Given the description of an element on the screen output the (x, y) to click on. 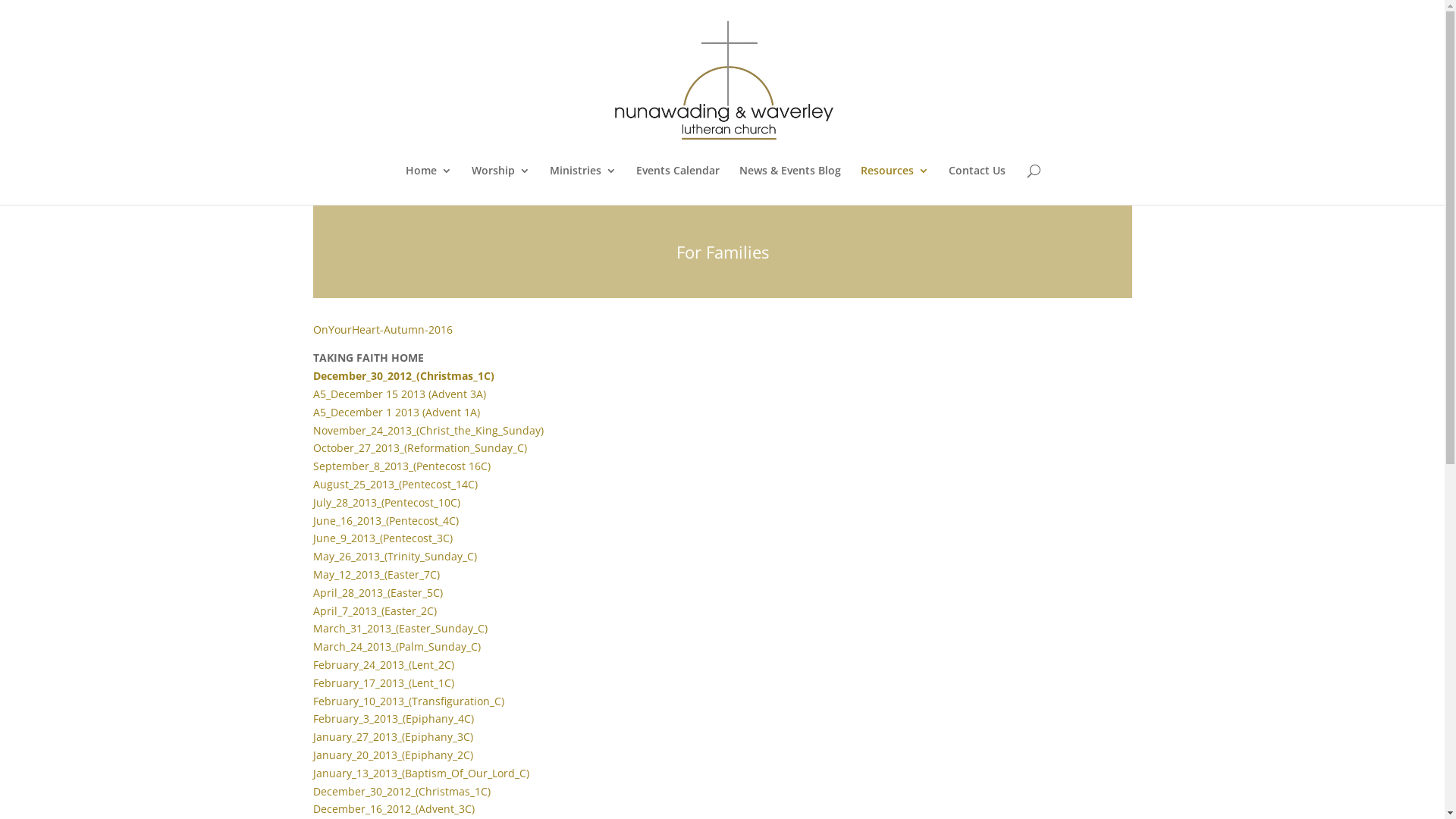
February_24_2013_(Lent_2C) Element type: text (382, 664)
Home Element type: text (428, 184)
A5_December 1 2013 (Advent 1A) Element type: text (395, 411)
January_27_2013_(Epiphany_3C) Element type: text (392, 736)
November_24_2013_(Christ_the_King_Sunday) Element type: text (427, 430)
April_7_2013_(Easter_2C) Element type: text (374, 610)
3_(Baptism_Of_Our_Lord_C) Element type: text (460, 772)
May_26_2013_(Trinity_Sunday_C) Element type: text (394, 556)
A5_December 15 2013 (Advent 3A) Element type: text (398, 393)
January_13_201 Element type: text (351, 772)
Ministries Element type: text (582, 184)
News & Events Blog Element type: text (789, 184)
January_20_2013_(Epiphany_2C) Element type: text (392, 754)
March_24_ Element type: text (339, 646)
Worship Element type: text (500, 184)
e_16_2013_(Pentecost_4C) Element type: text (393, 520)
September_8_2013_(Pentecost 16C) Element type: text (400, 465)
February_10_2013_(Transfiguration_C) Element type: text (407, 700)
_16_2012_(Advent_3C) Element type: text (419, 808)
June_9_2013_(Pentecost_3C) Element type: text (381, 537)
October_27_2013_(Reformation_Sunday_C) Element type: text (419, 447)
OnYourHeart-Autumn-2016 Element type: text (381, 329)
Jun Element type: text (320, 520)
May_12_2013_(Easter_7C) Element type: text (375, 574)
August_25_2013_(Pentecost_14C) Element type: text (394, 483)
March_31_2013_(Easter_Sunday_C) Element type: text (399, 628)
December Element type: text (338, 808)
July_28_2013_(Pentecost_10C) Element type: text (385, 502)
December_30_2012_(Christmas_1C) Element type: text (400, 791)
Contact Us Element type: text (976, 184)
December_30_2012_(Christmas_1C) Element type: text (402, 375)
Resources Element type: text (894, 184)
February_3_2013_(Epiphany_4C) Element type: text (392, 718)
Events Calendar Element type: text (677, 184)
April_28_2013_(Easter_5C) Element type: text (377, 592)
February_17_2013_(Lent_1C) Element type: text (382, 682)
2013_(Palm_Sunday_C) Element type: text (423, 646)
